Given the description of an element on the screen output the (x, y) to click on. 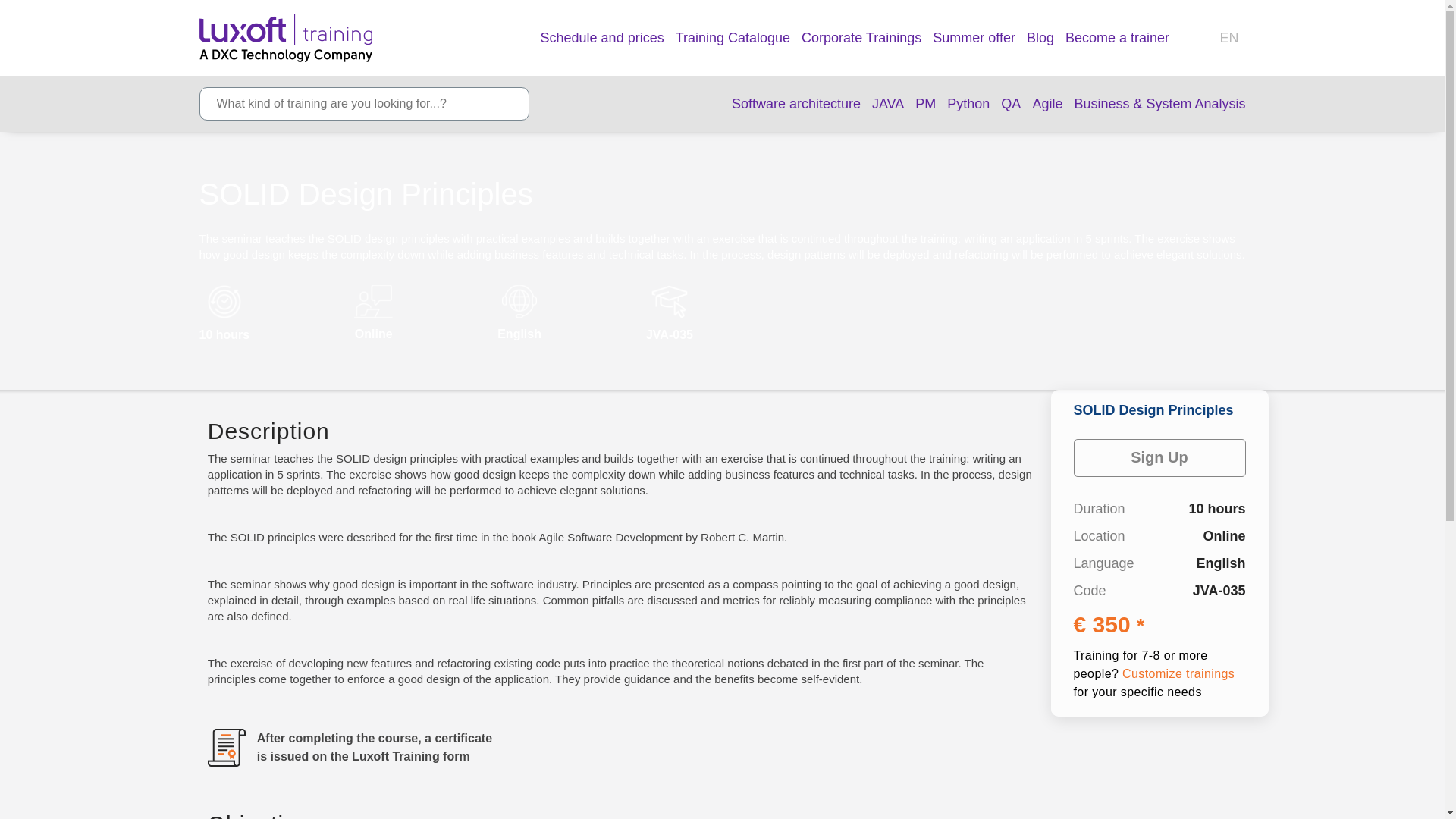
Luxoft Training (285, 37)
Sign Up (1160, 457)
Become a trainer (1117, 37)
Software architecture (796, 104)
JAVA (888, 104)
Search (508, 104)
Customize trainings (1178, 673)
Become a trainer (1117, 37)
Our IT courses (601, 37)
Summer offer (973, 37)
Agile (1047, 104)
Blog (1040, 37)
Python (968, 104)
English (1232, 37)
Contacts (1198, 37)
